Given the description of an element on the screen output the (x, y) to click on. 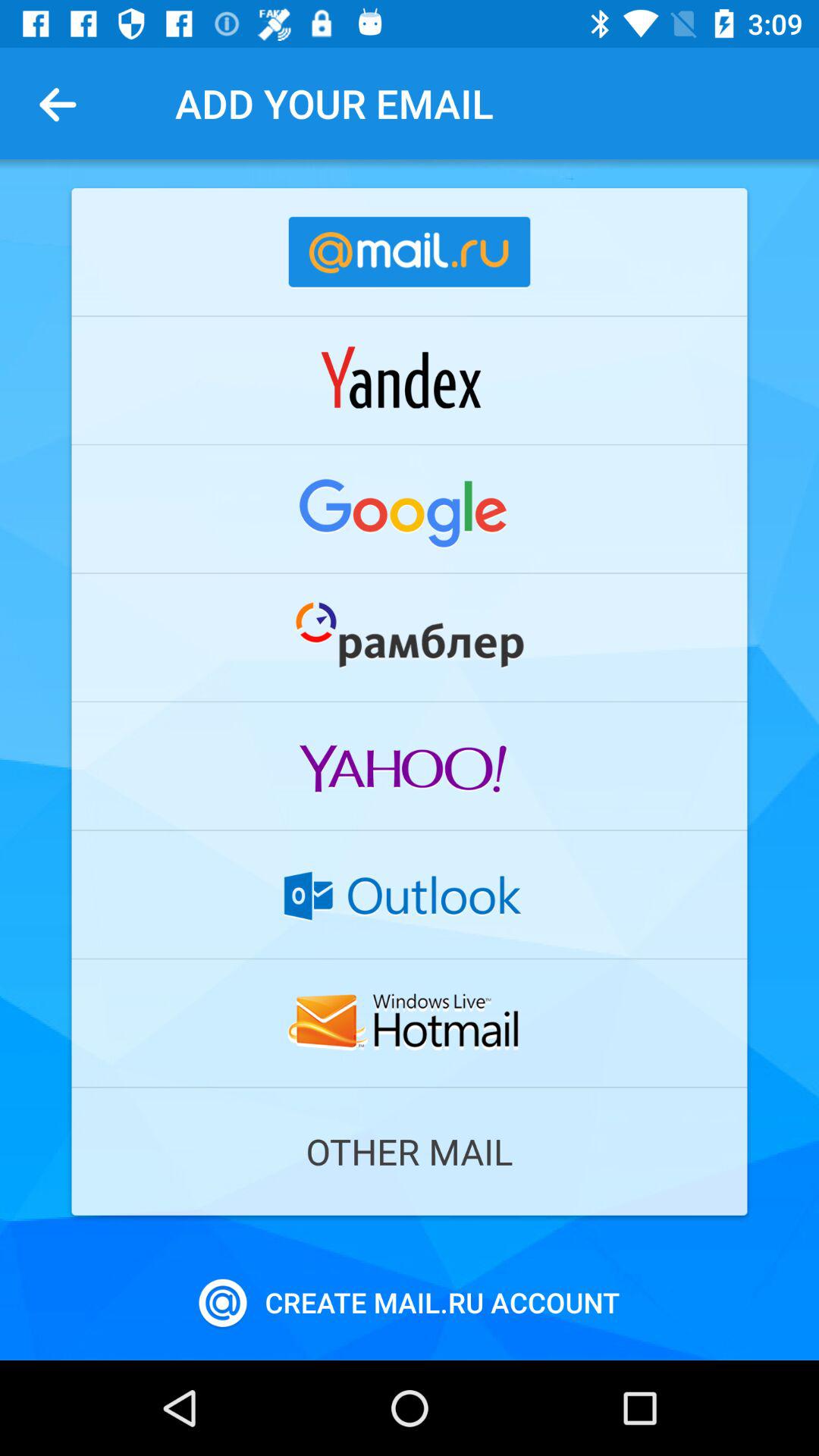
click yahoo (409, 765)
